Given the description of an element on the screen output the (x, y) to click on. 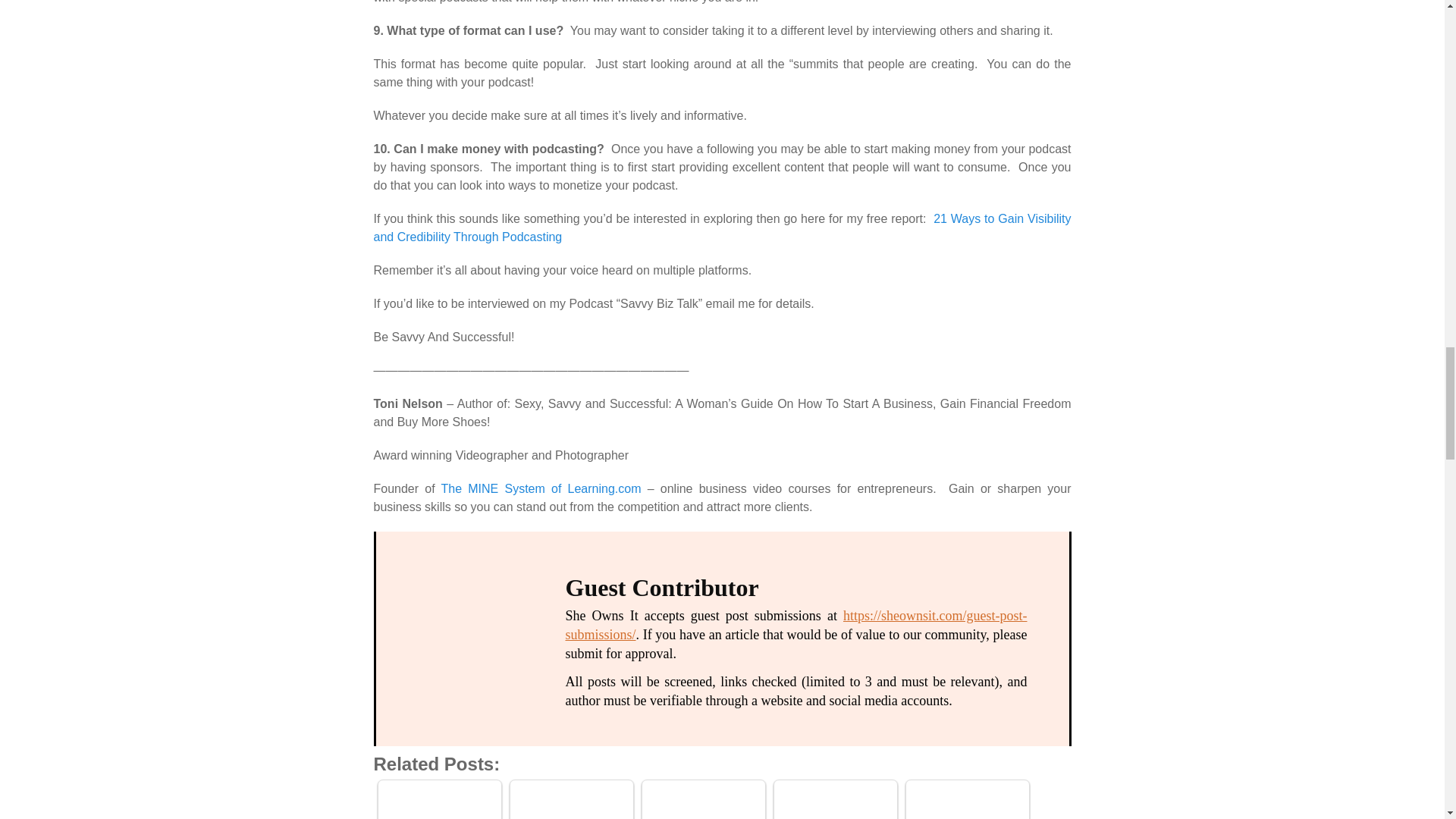
Easy Ways to Boost Your Business Efficiency (834, 801)
